Given the description of an element on the screen output the (x, y) to click on. 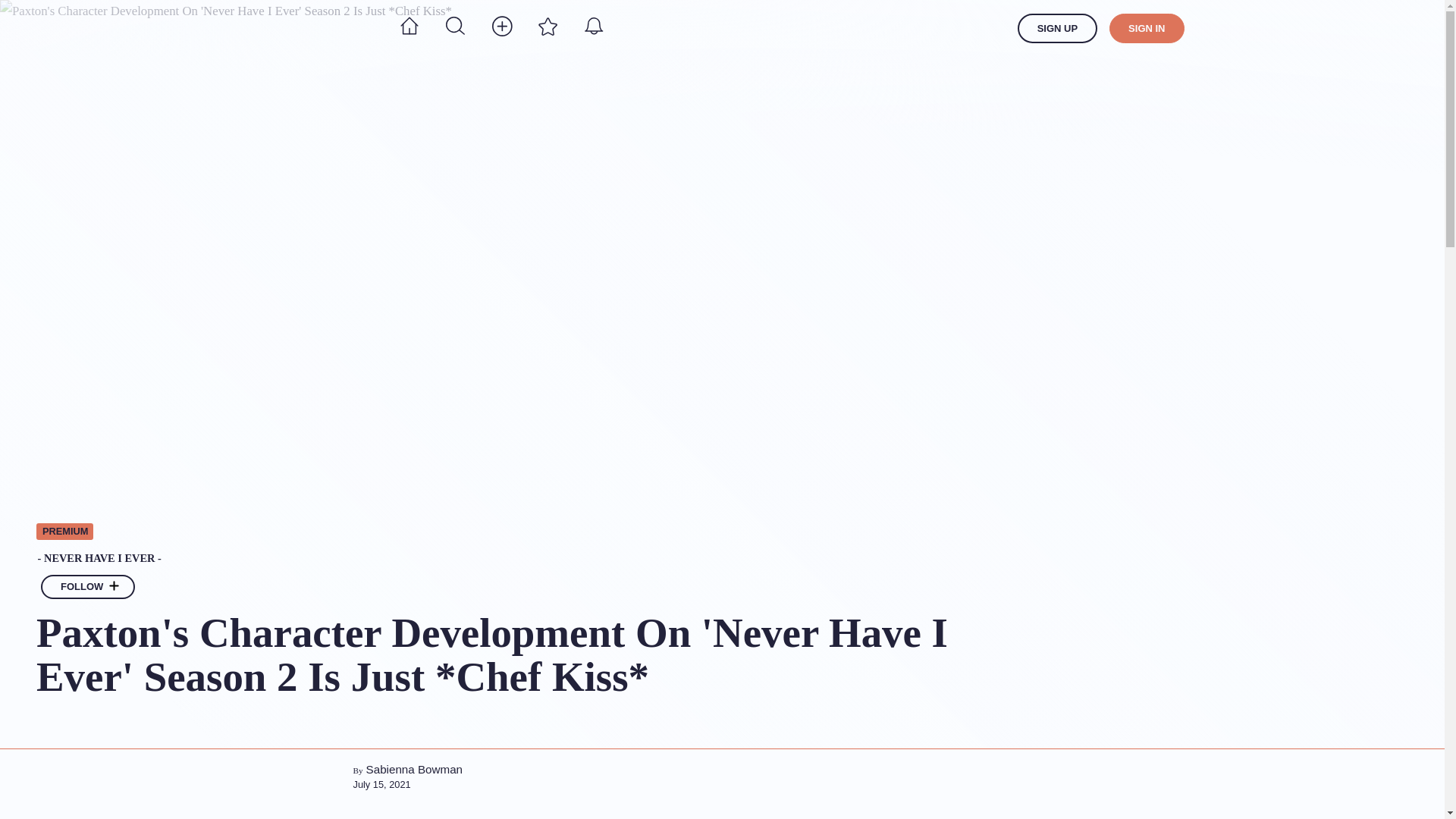
Dipp (317, 28)
Sabienna Bowman (414, 768)
SIGN IN (1146, 28)
FOLLOW (87, 586)
- NEVER HAVE I EVER - (542, 559)
SIGN UP (1057, 28)
